Given the description of an element on the screen output the (x, y) to click on. 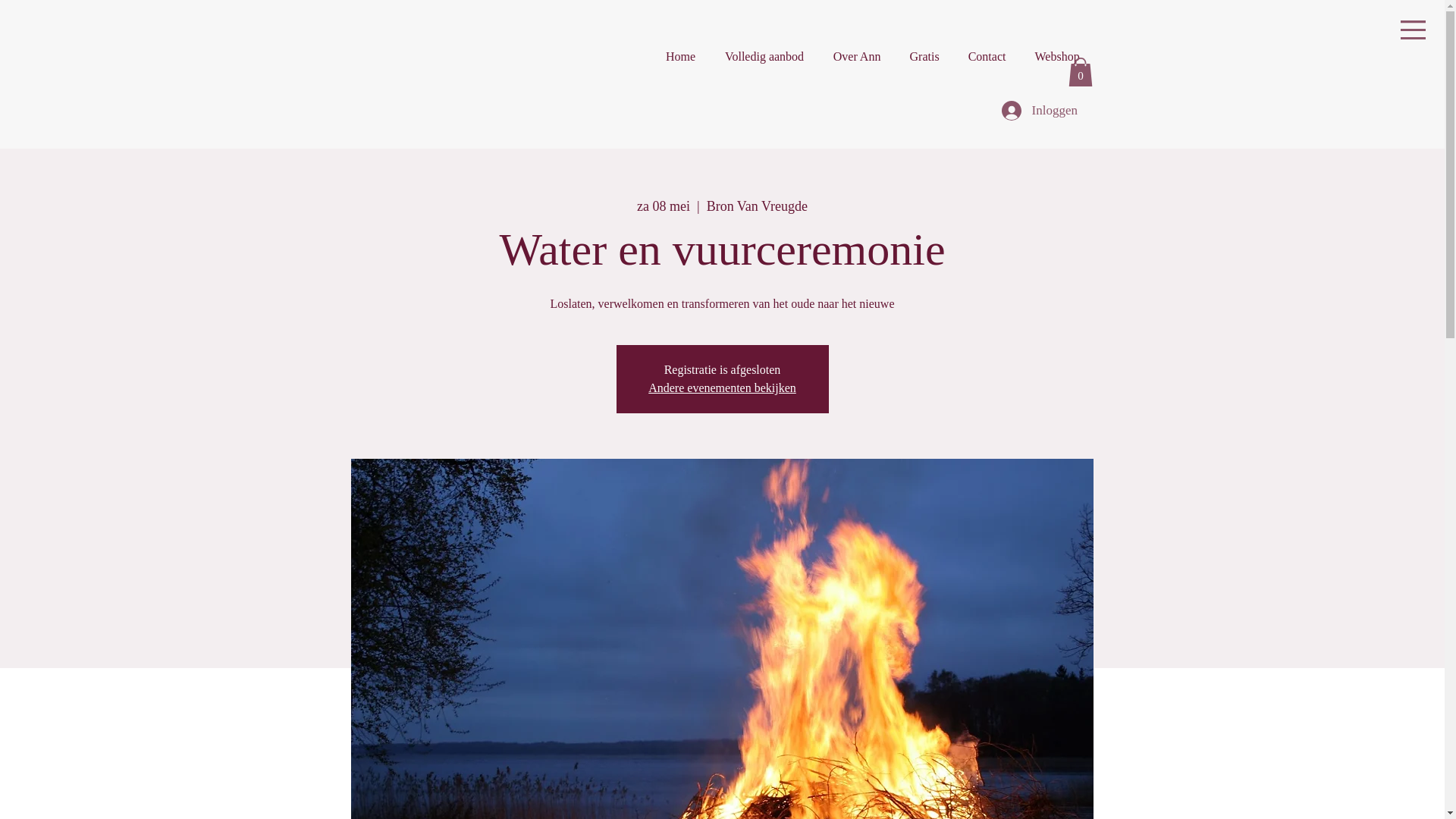
Andere evenementen bekijken Element type: text (722, 387)
0 Element type: text (1079, 71)
Gratis Element type: text (924, 56)
Over Ann Element type: text (857, 56)
Contact Element type: text (986, 56)
Inloggen Element type: text (1036, 110)
Webshop Element type: text (1057, 56)
Volledig aanbod Element type: text (764, 56)
Home Element type: text (680, 56)
